Given the description of an element on the screen output the (x, y) to click on. 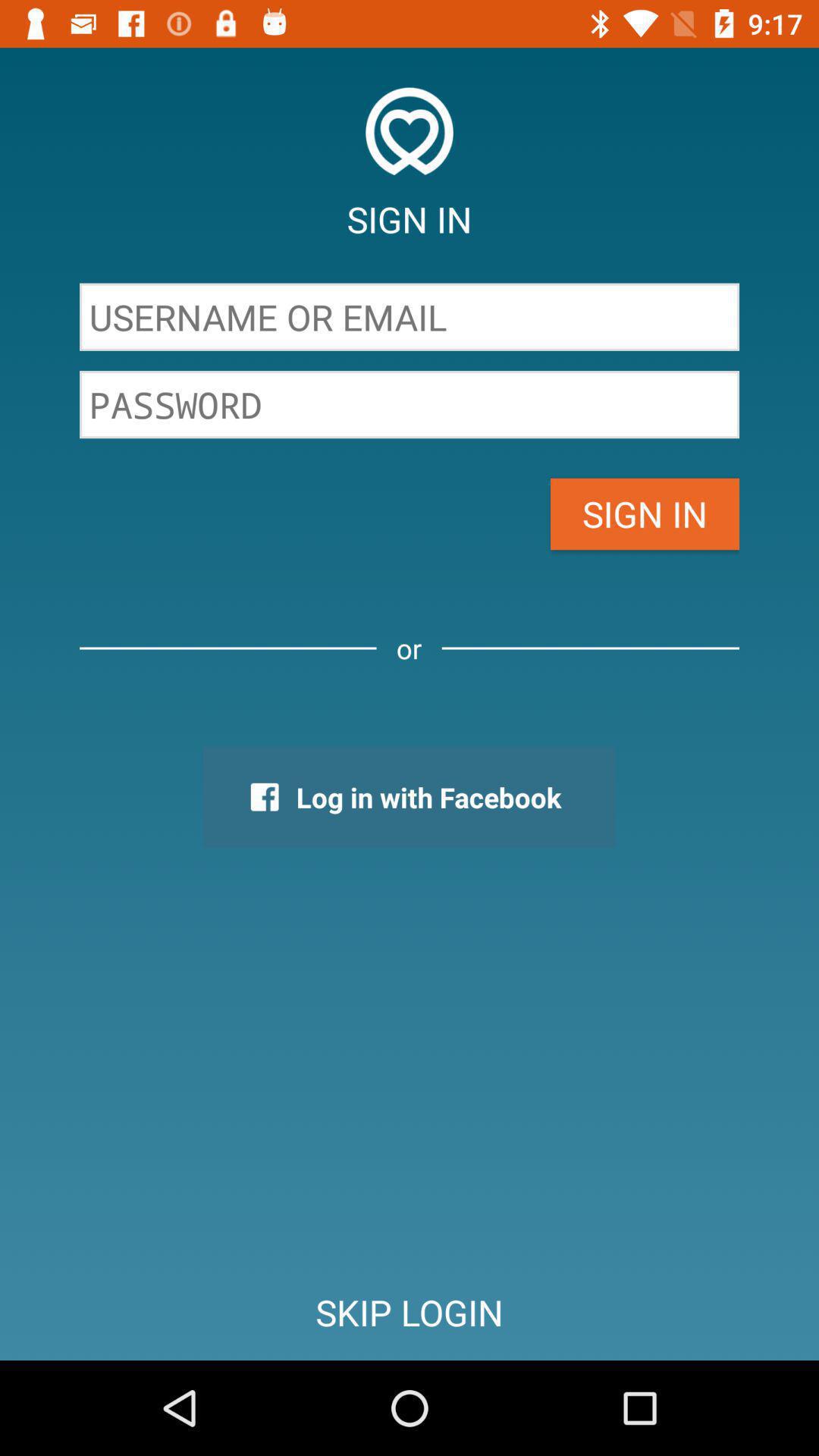
scroll to the skip login item (409, 1312)
